Given the description of an element on the screen output the (x, y) to click on. 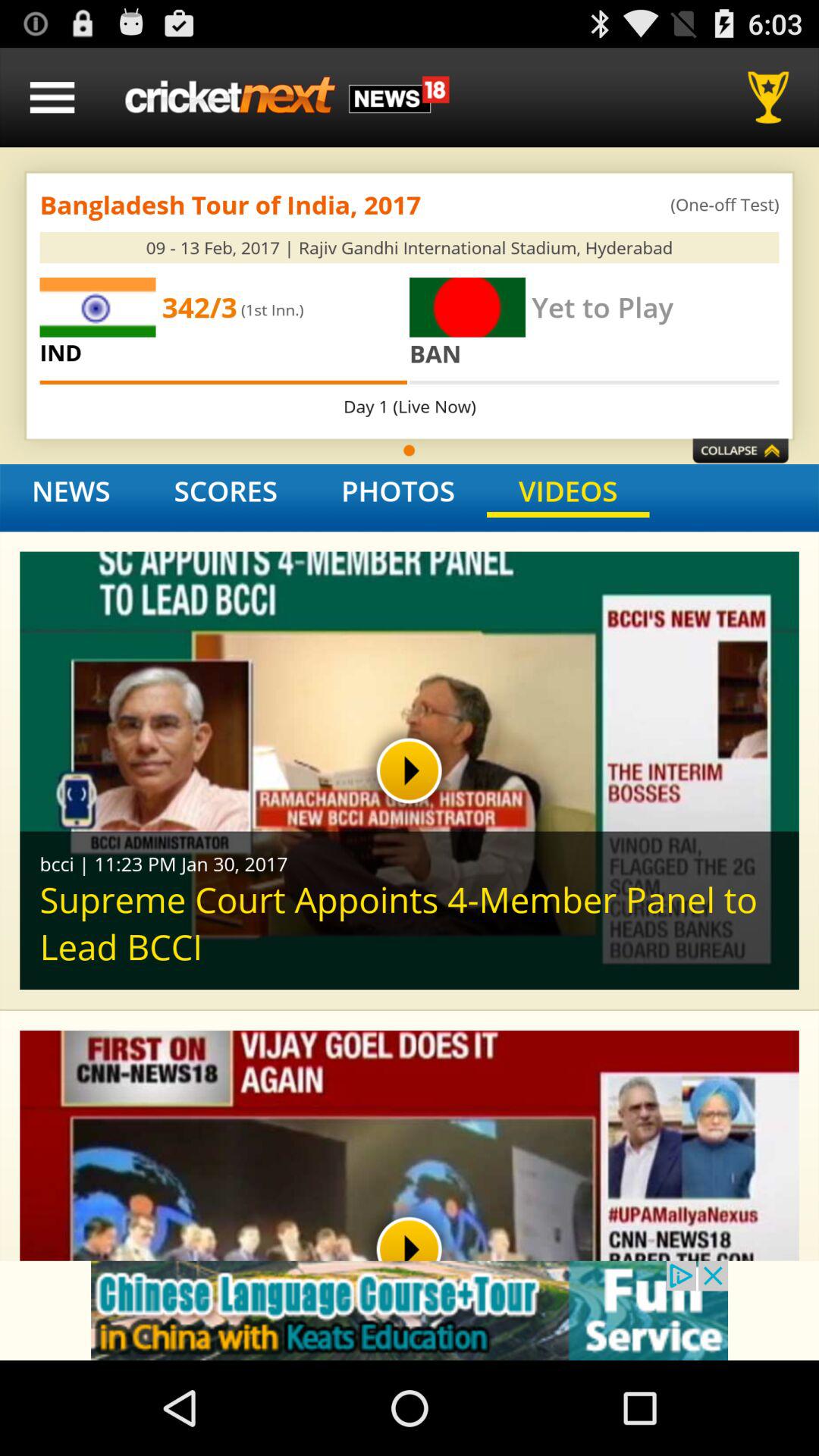
go to rewards (773, 97)
